Given the description of an element on the screen output the (x, y) to click on. 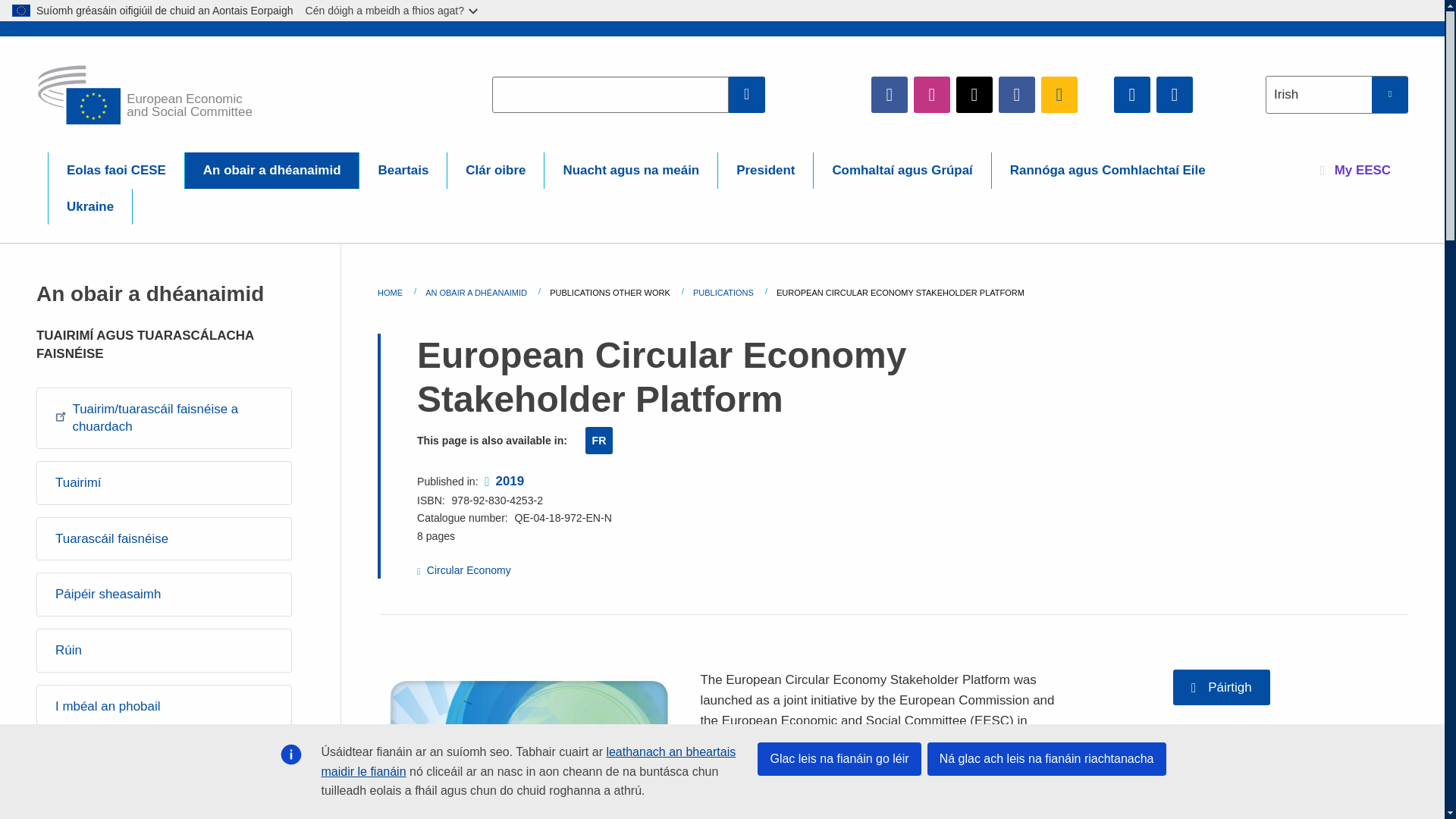
My EESC (1355, 170)
Search EESC Website (747, 94)
